Given the description of an element on the screen output the (x, y) to click on. 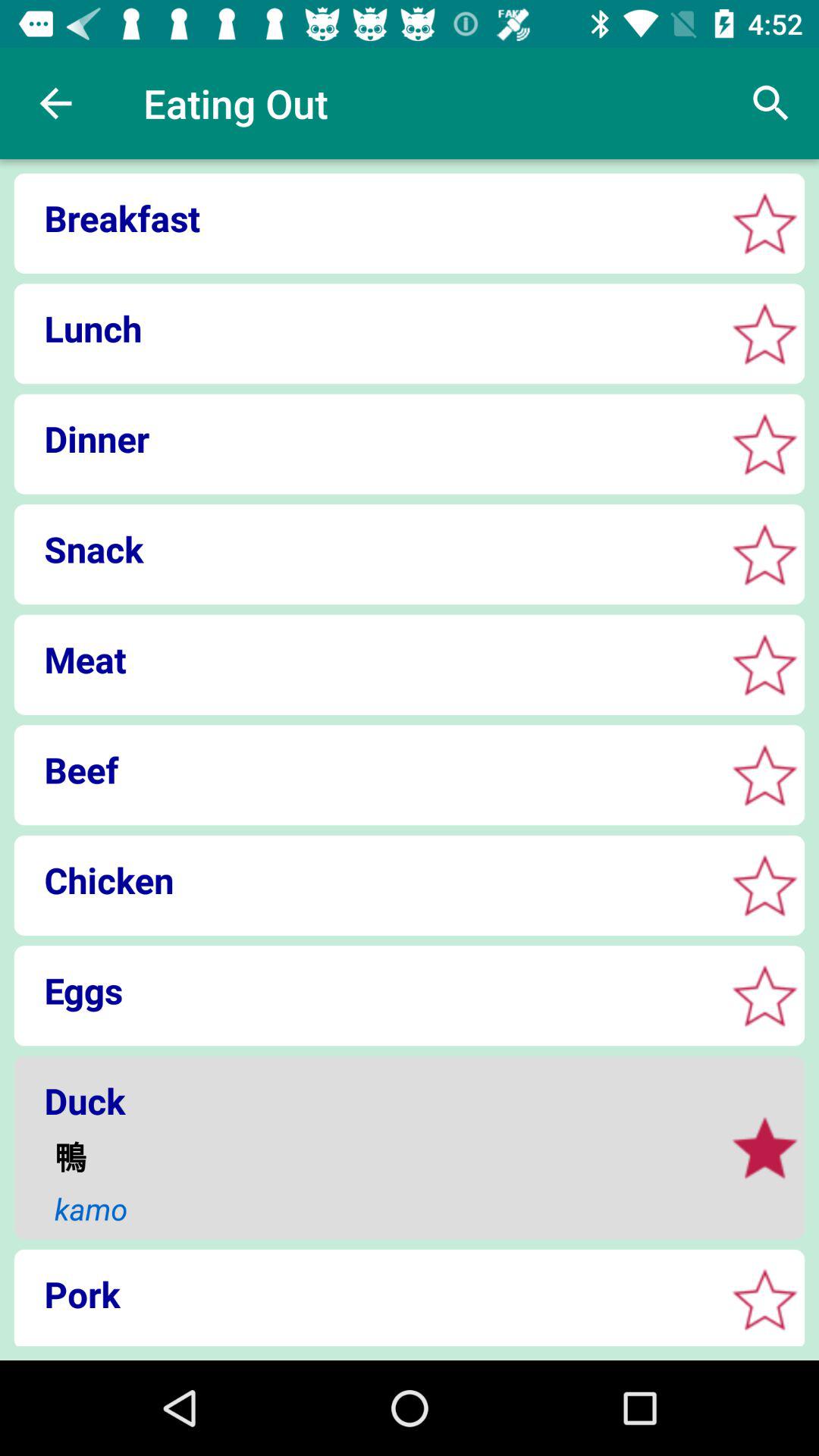
flip until the snack icon (364, 548)
